Given the description of an element on the screen output the (x, y) to click on. 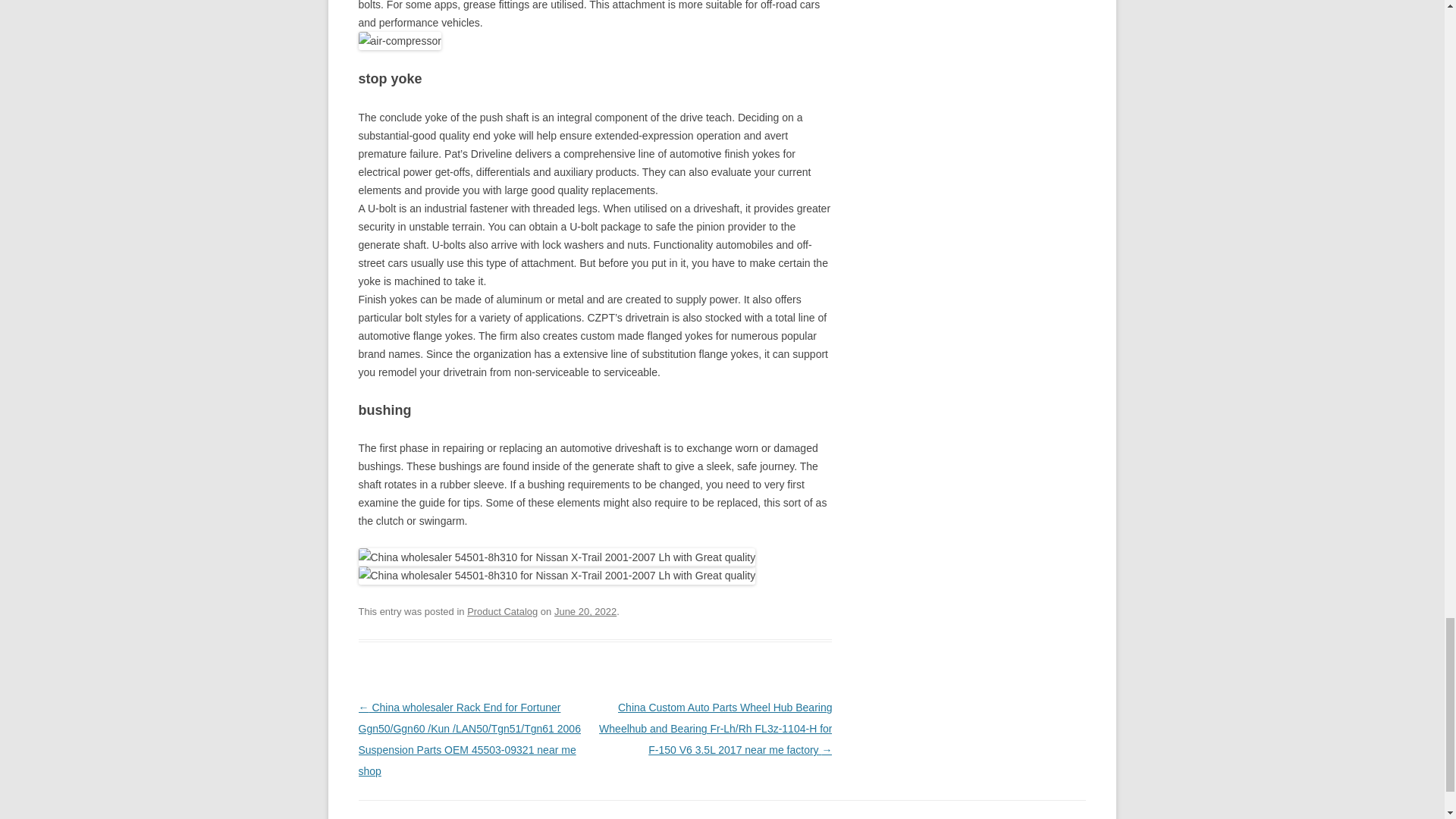
June 20, 2022 (584, 611)
Product Catalog (502, 611)
6:03 pm (584, 611)
